Given the description of an element on the screen output the (x, y) to click on. 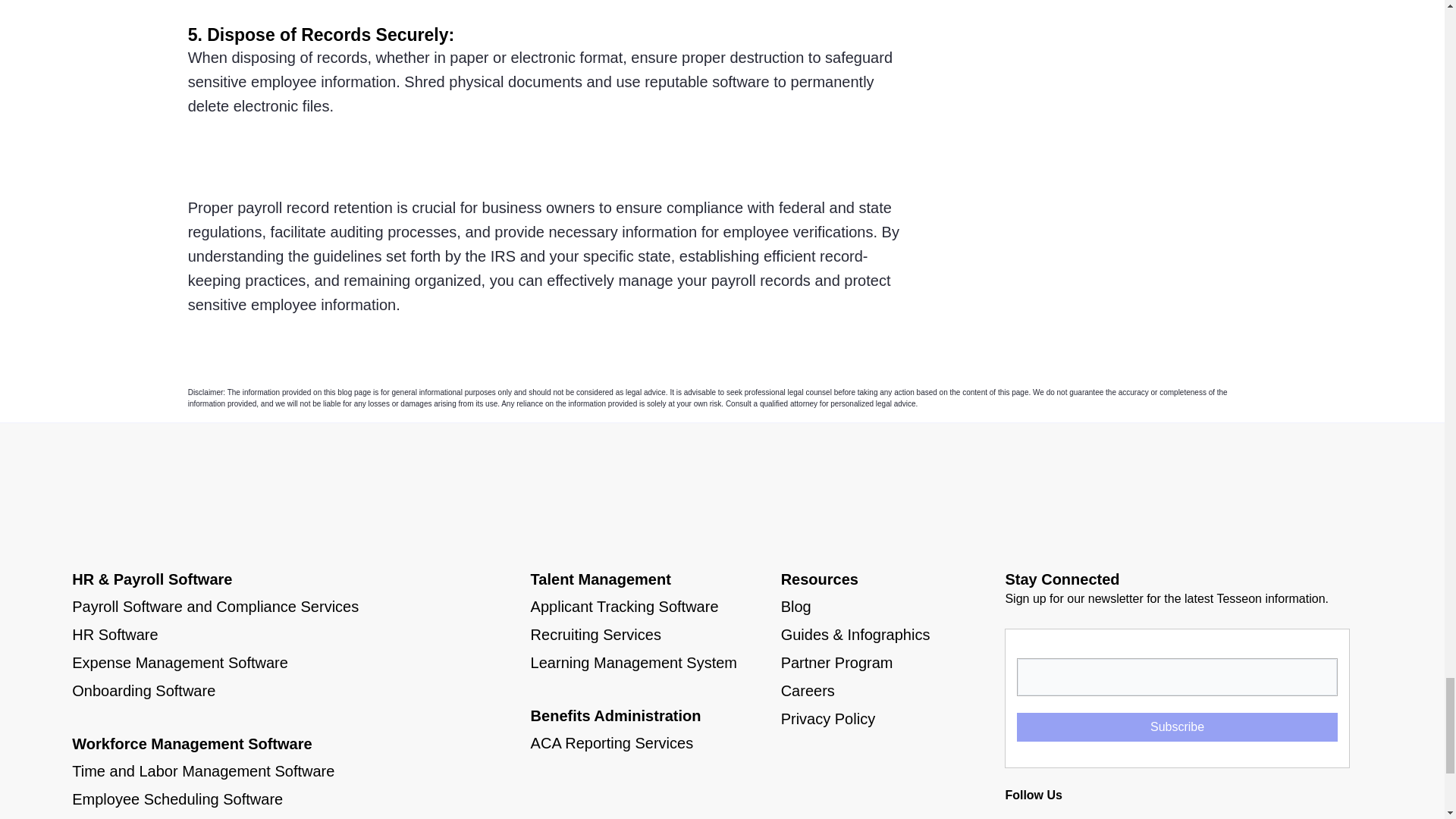
Subscribe (1176, 727)
